Given the description of an element on the screen output the (x, y) to click on. 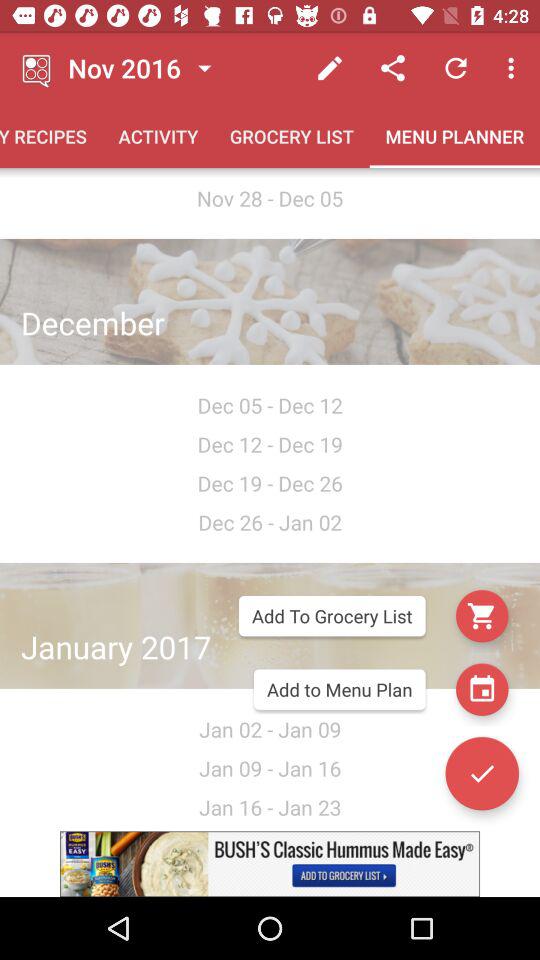
visit the advertisement site (270, 864)
